Given the description of an element on the screen output the (x, y) to click on. 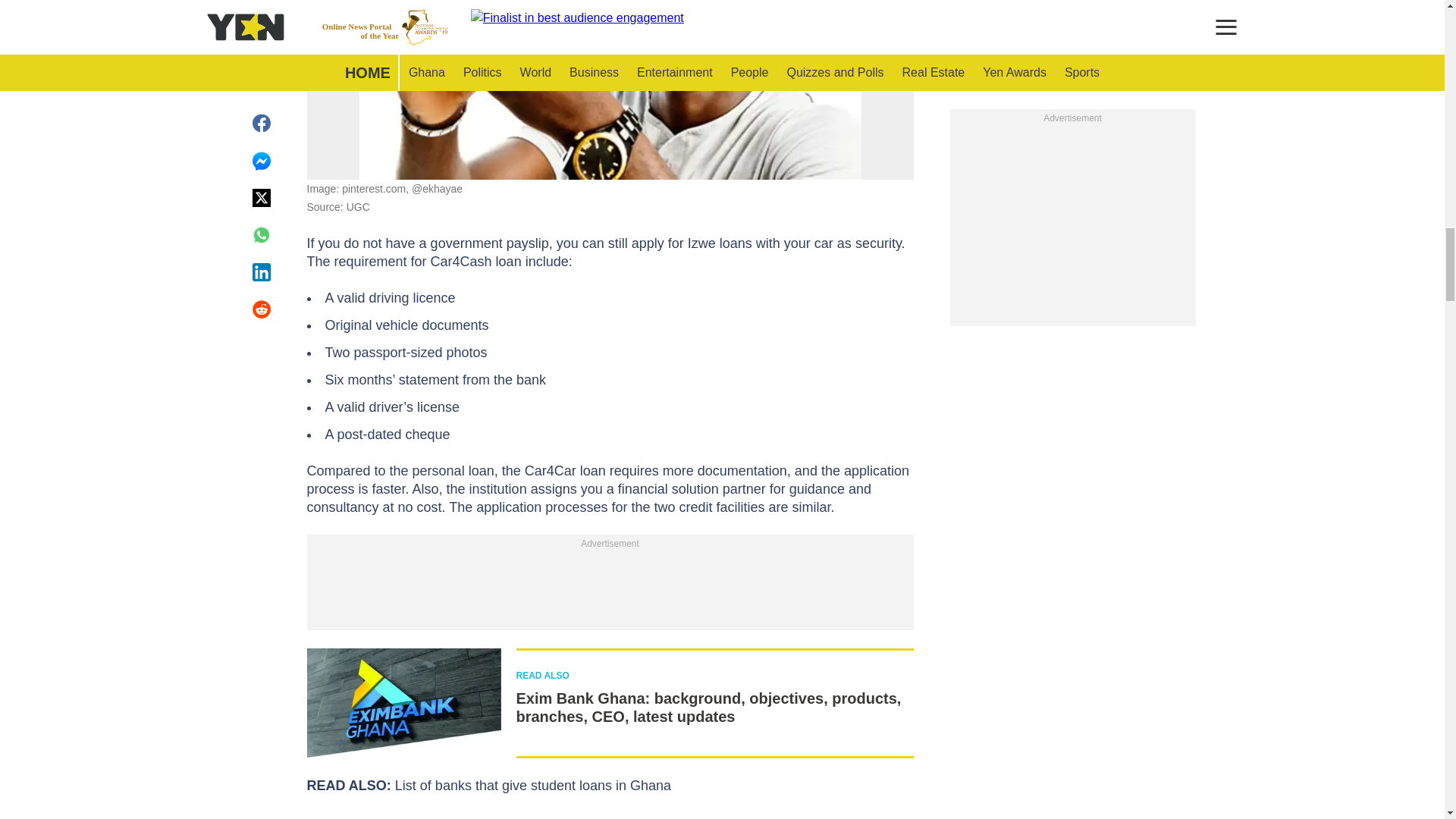
Izwe loans Ghana: services, requirements, how to apply (609, 89)
